Given the description of an element on the screen output the (x, y) to click on. 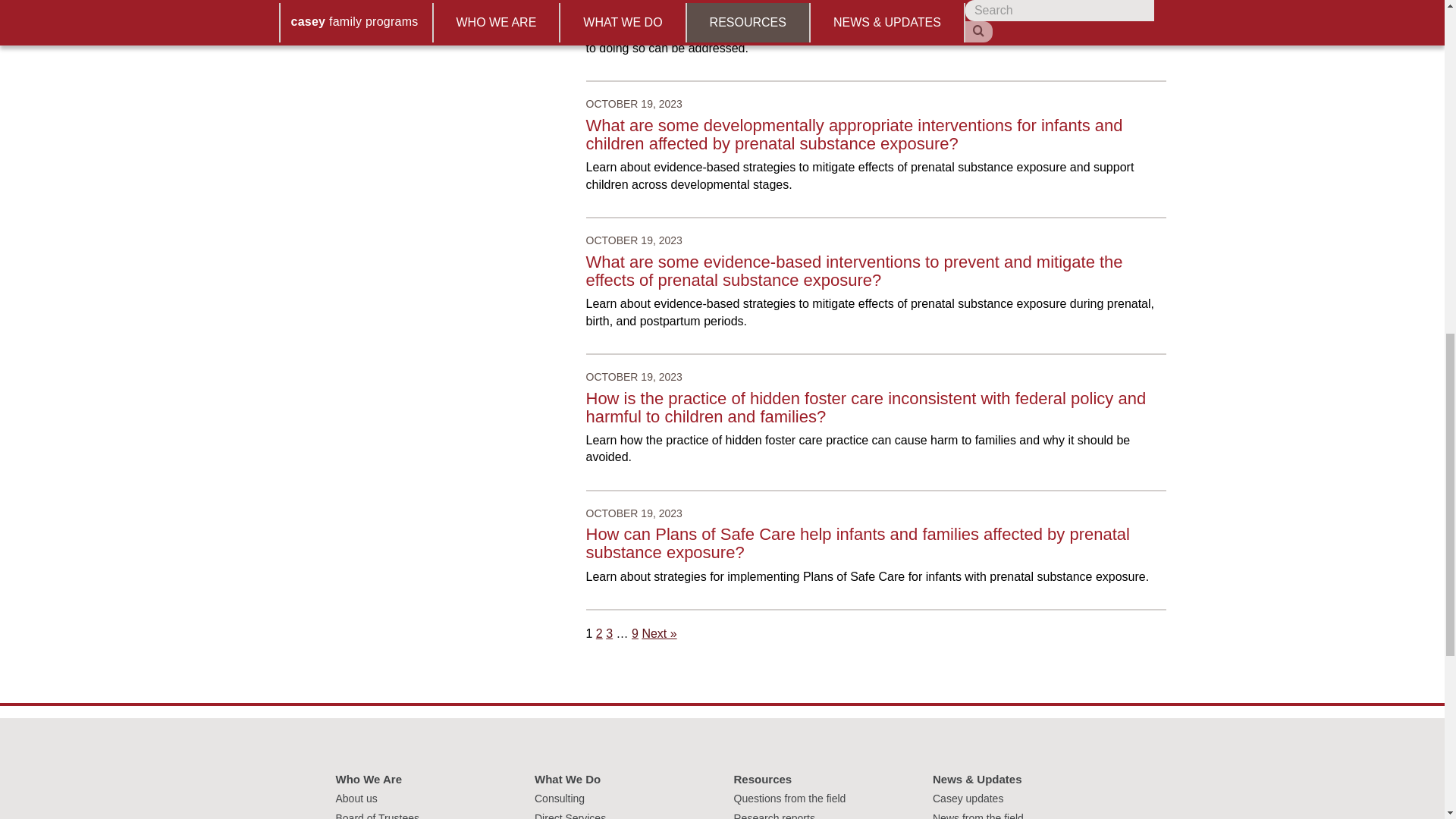
What We Do (566, 779)
Consulting (559, 798)
Board of Trustees (376, 815)
About us (355, 798)
Direct Services (569, 815)
Who We Are (367, 779)
